Given the description of an element on the screen output the (x, y) to click on. 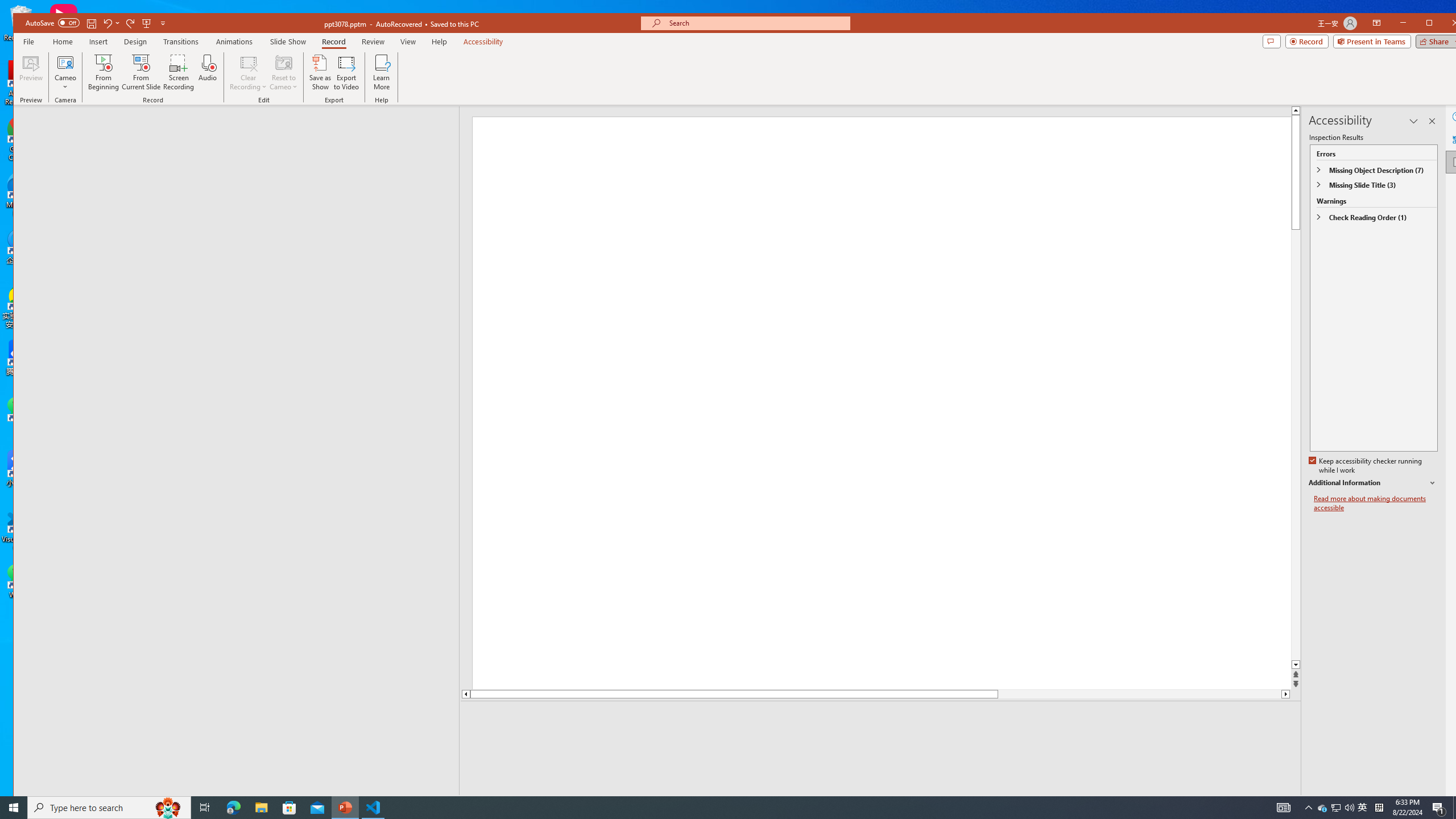
Menu On (1235, 802)
